Given the description of an element on the screen output the (x, y) to click on. 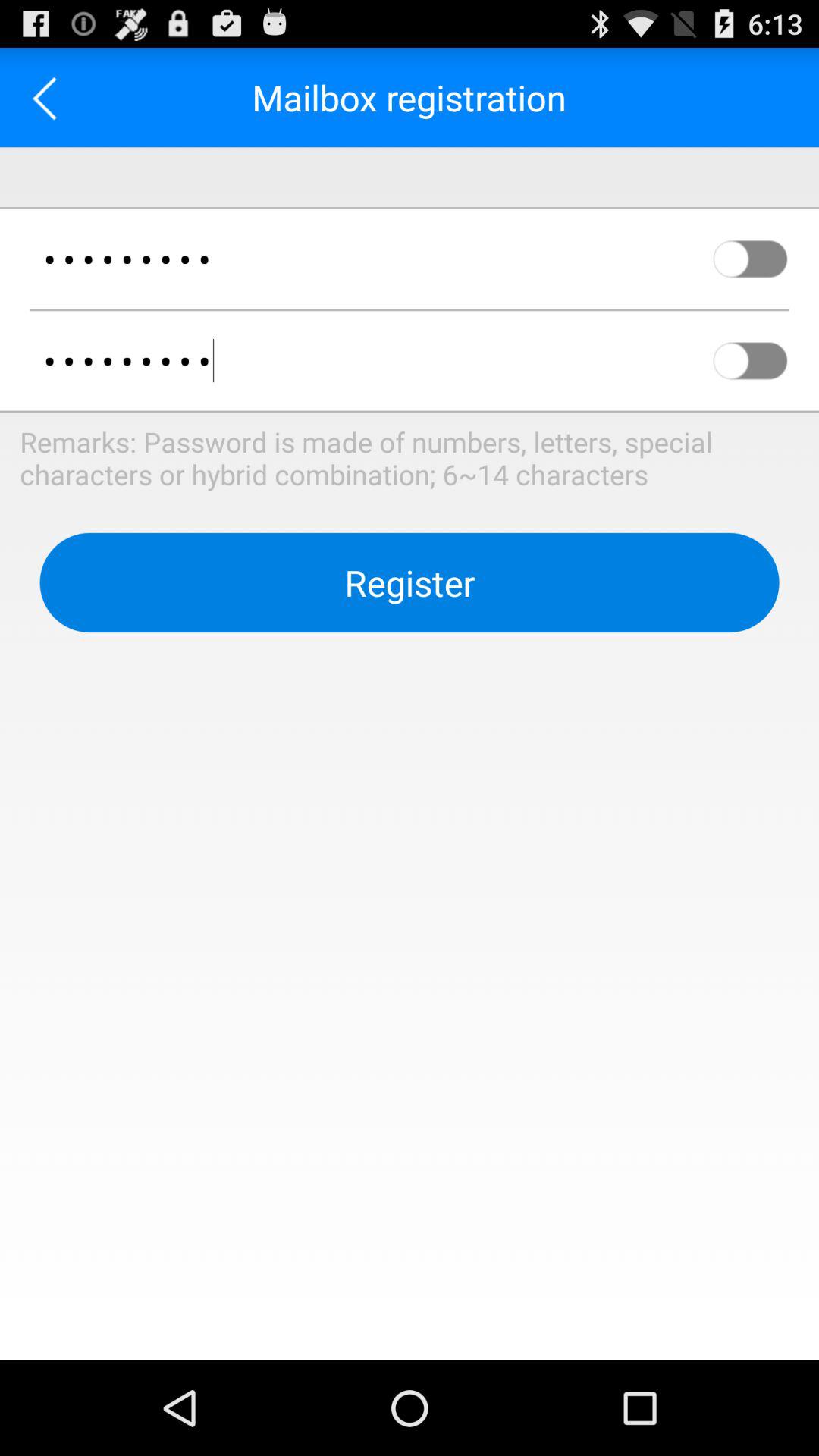
go to previous page (49, 97)
